Given the description of an element on the screen output the (x, y) to click on. 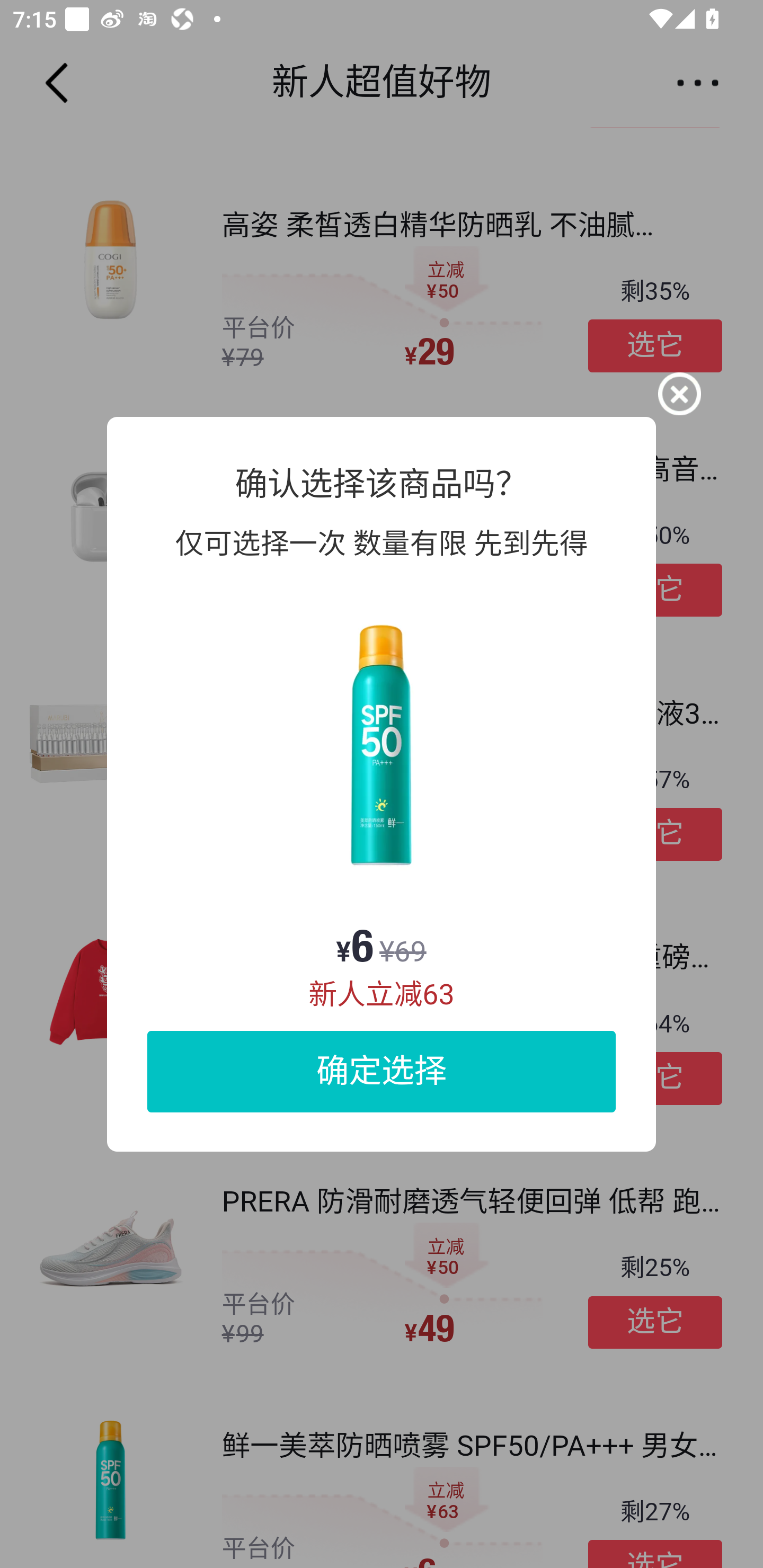
确定选择 (381, 1070)
